Given the description of an element on the screen output the (x, y) to click on. 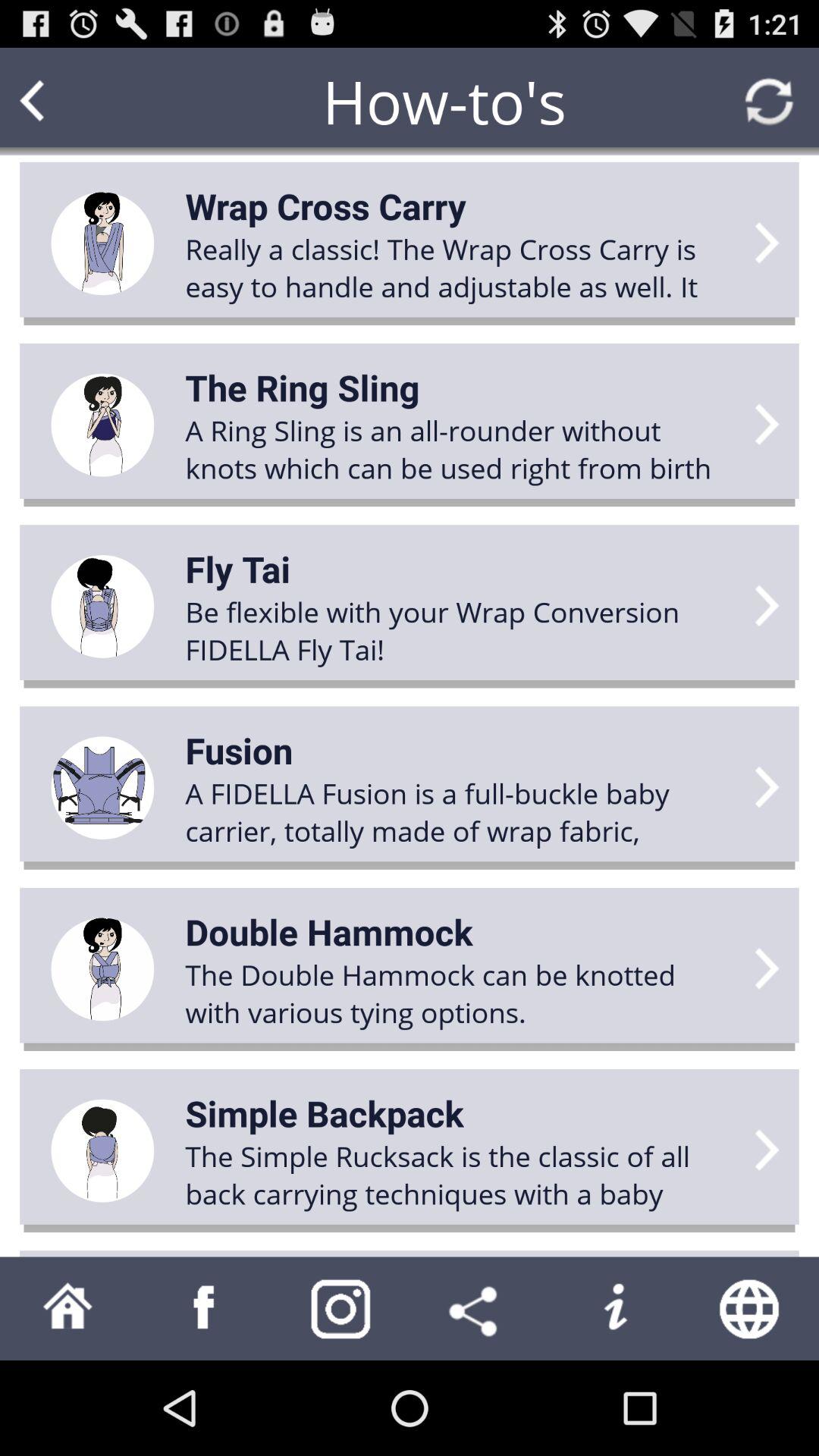
go back (61, 101)
